Given the description of an element on the screen output the (x, y) to click on. 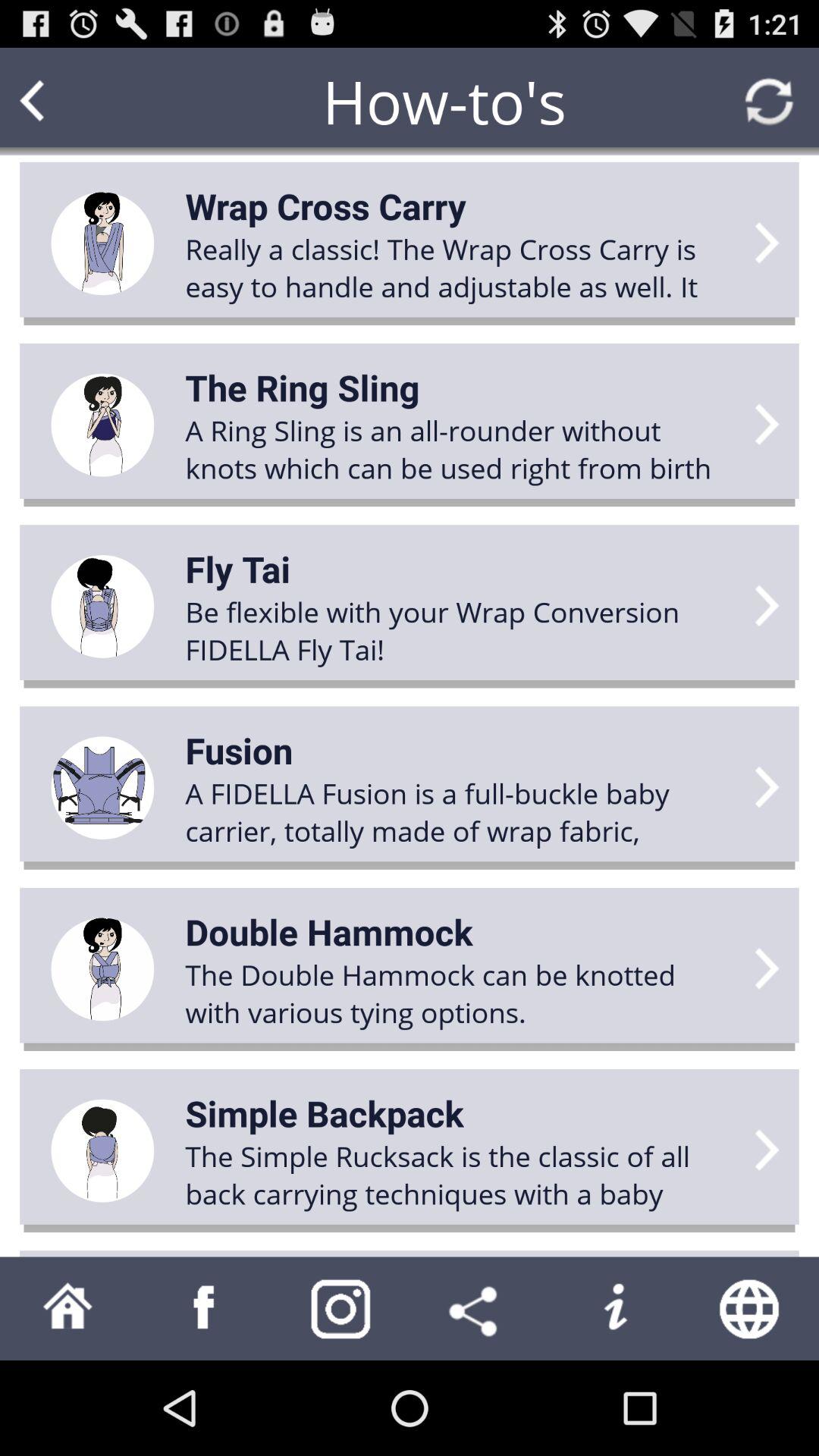
go back (61, 101)
